Given the description of an element on the screen output the (x, y) to click on. 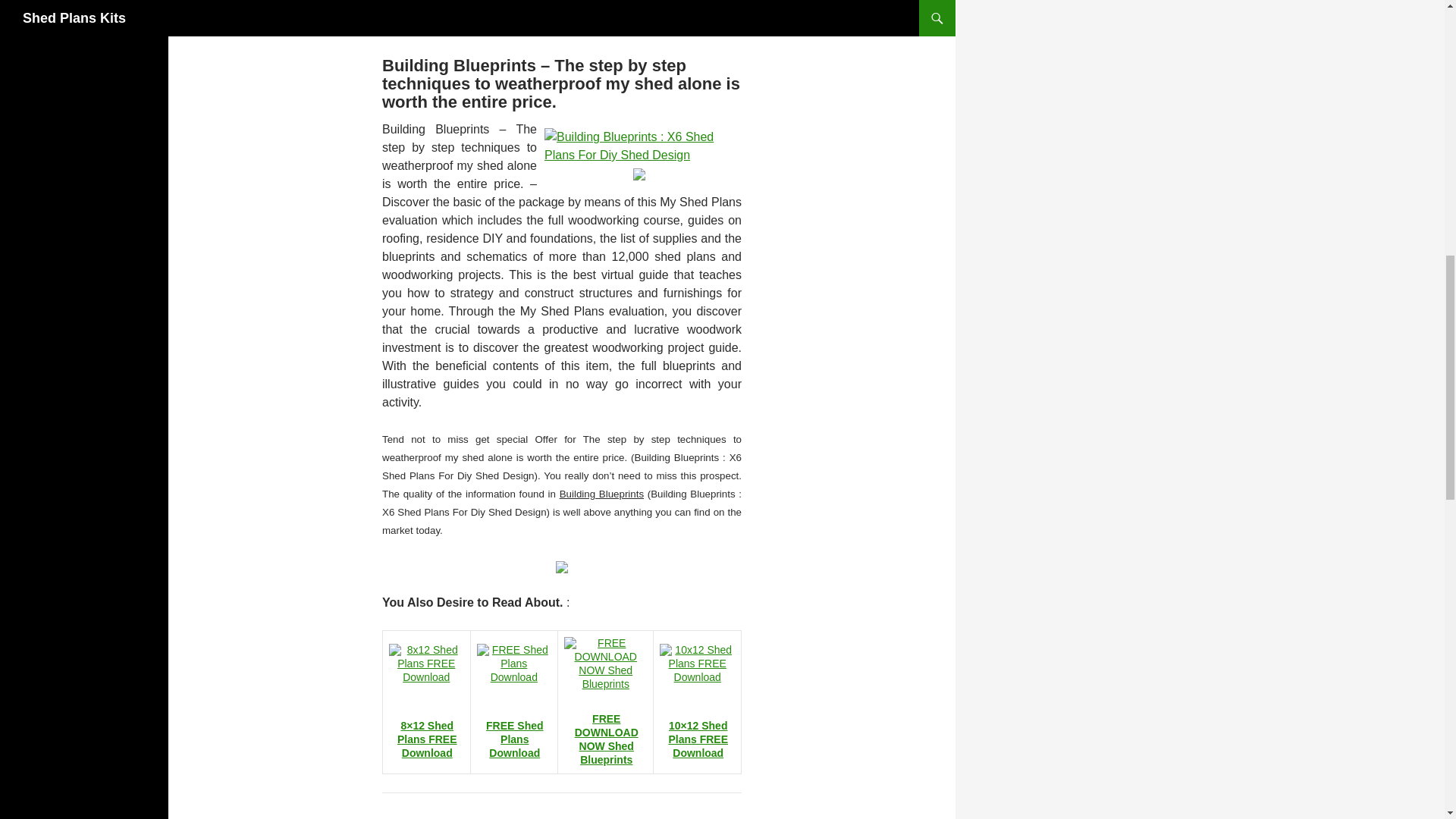
FREE Shed Plans Download (514, 739)
building blueprints (561, 565)
FREE DOWNLOAD NOW Shed Blueprints (607, 738)
building blueprints (638, 144)
building blueprints (639, 173)
building blueprints (561, 3)
